Given the description of an element on the screen output the (x, y) to click on. 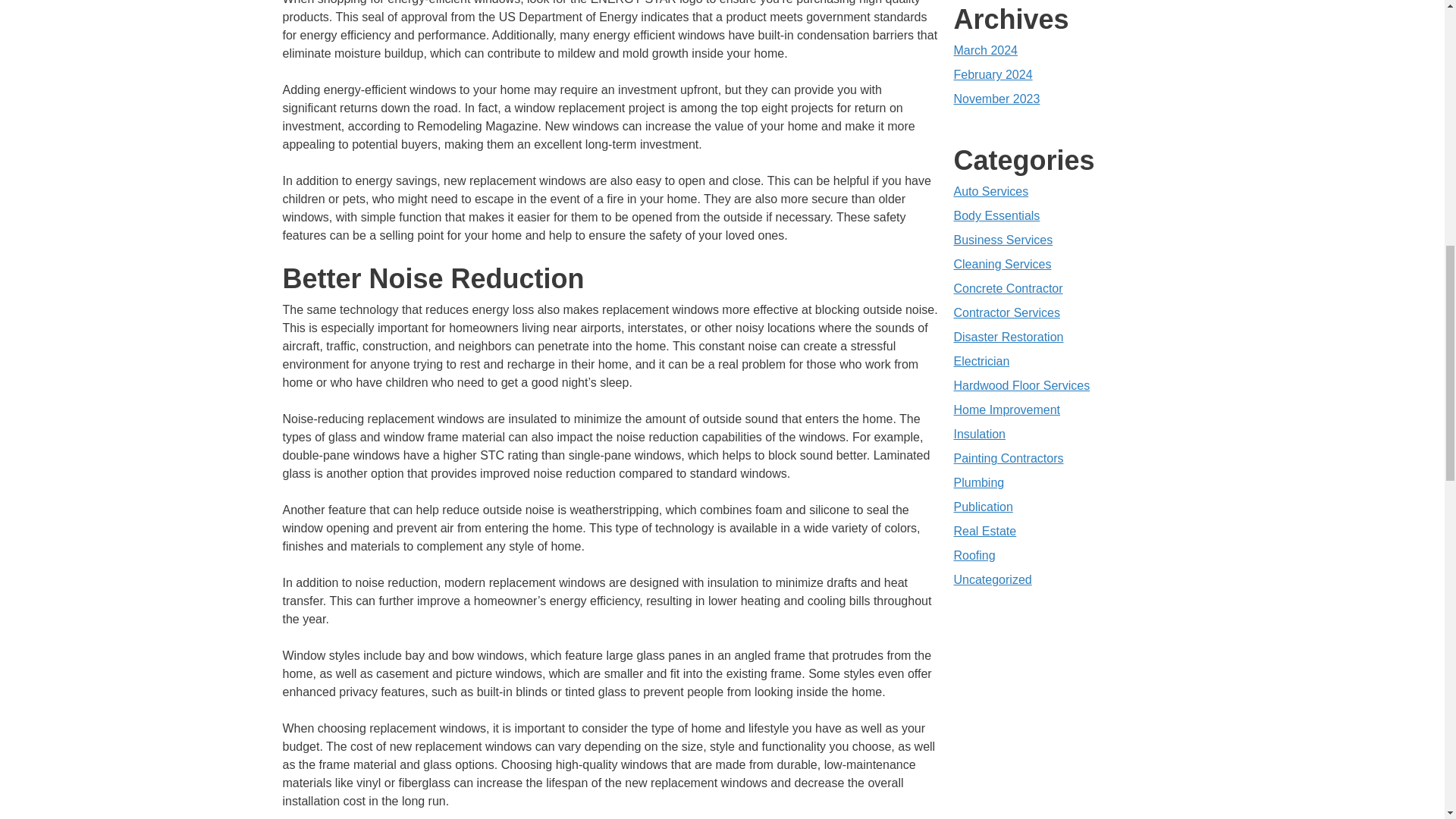
Insulation (979, 433)
Home Improvement (1007, 409)
Electrician (981, 360)
Plumbing (978, 481)
Disaster Restoration (1008, 336)
November 2023 (997, 98)
Contractor Services (1007, 312)
Uncategorized (992, 579)
Body Essentials (997, 215)
Real Estate (984, 530)
February 2024 (992, 74)
Painting Contractors (1008, 458)
Roofing (974, 554)
Business Services (1002, 239)
March 2024 (985, 50)
